Given the description of an element on the screen output the (x, y) to click on. 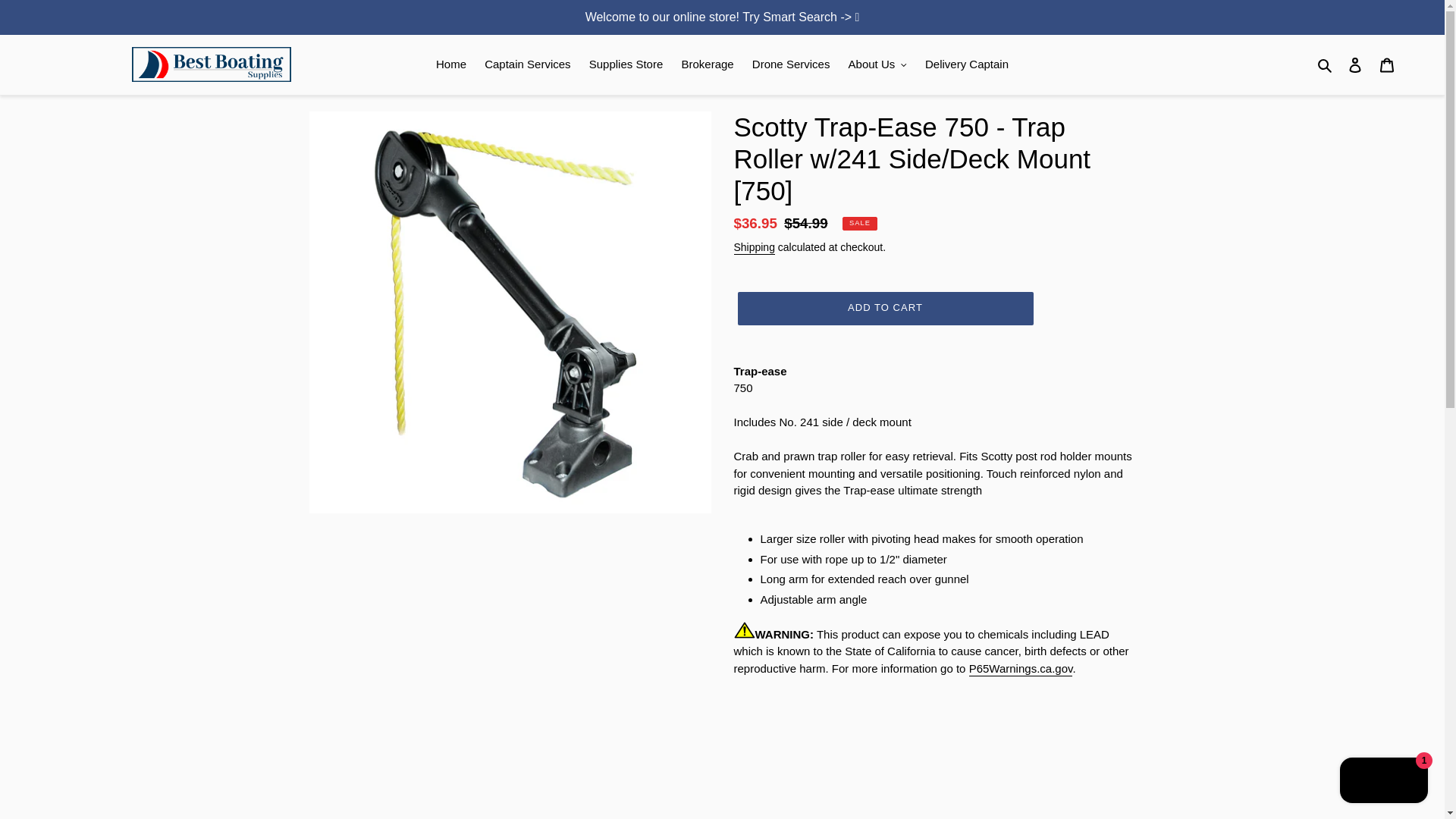
Captain Services (527, 65)
Log in (1355, 64)
Brokerage (706, 65)
Cart (1387, 64)
About Us (877, 65)
ADD TO CART (884, 308)
Supplies Store (625, 65)
Shipping (753, 247)
Search (1326, 64)
Shopify online store chat (1383, 781)
Drone Services (791, 65)
P65Warnings.ca.gov (1021, 668)
Home (451, 65)
Delivery Captain (966, 65)
